Given the description of an element on the screen output the (x, y) to click on. 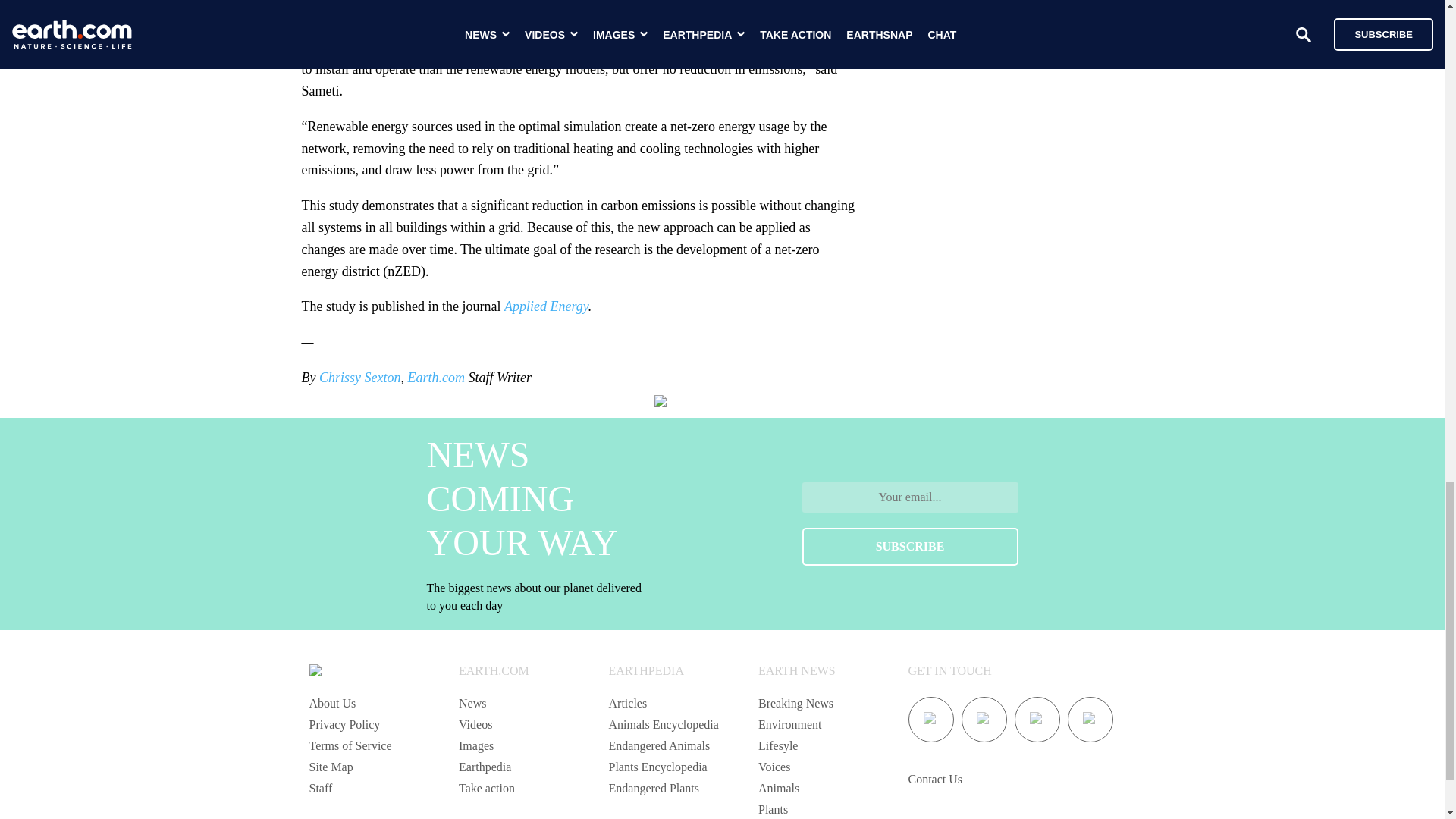
Applied Energy (545, 305)
SUBSCRIBE (909, 546)
Chrissy Sexton (359, 377)
Earth.com (435, 377)
